Given the description of an element on the screen output the (x, y) to click on. 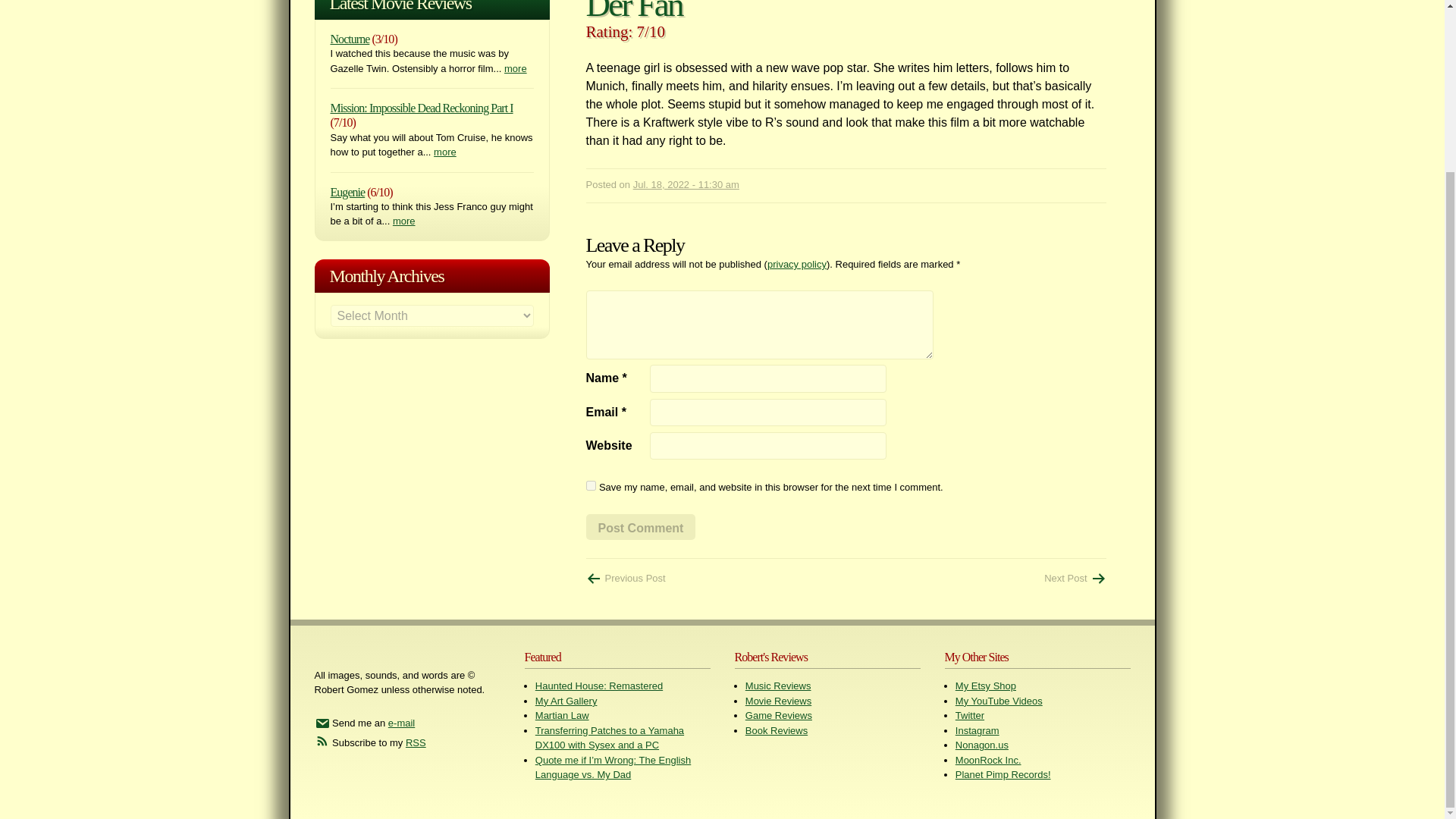
yes (590, 485)
Mushihimesama (1074, 578)
Post Comment (640, 526)
